Given the description of an element on the screen output the (x, y) to click on. 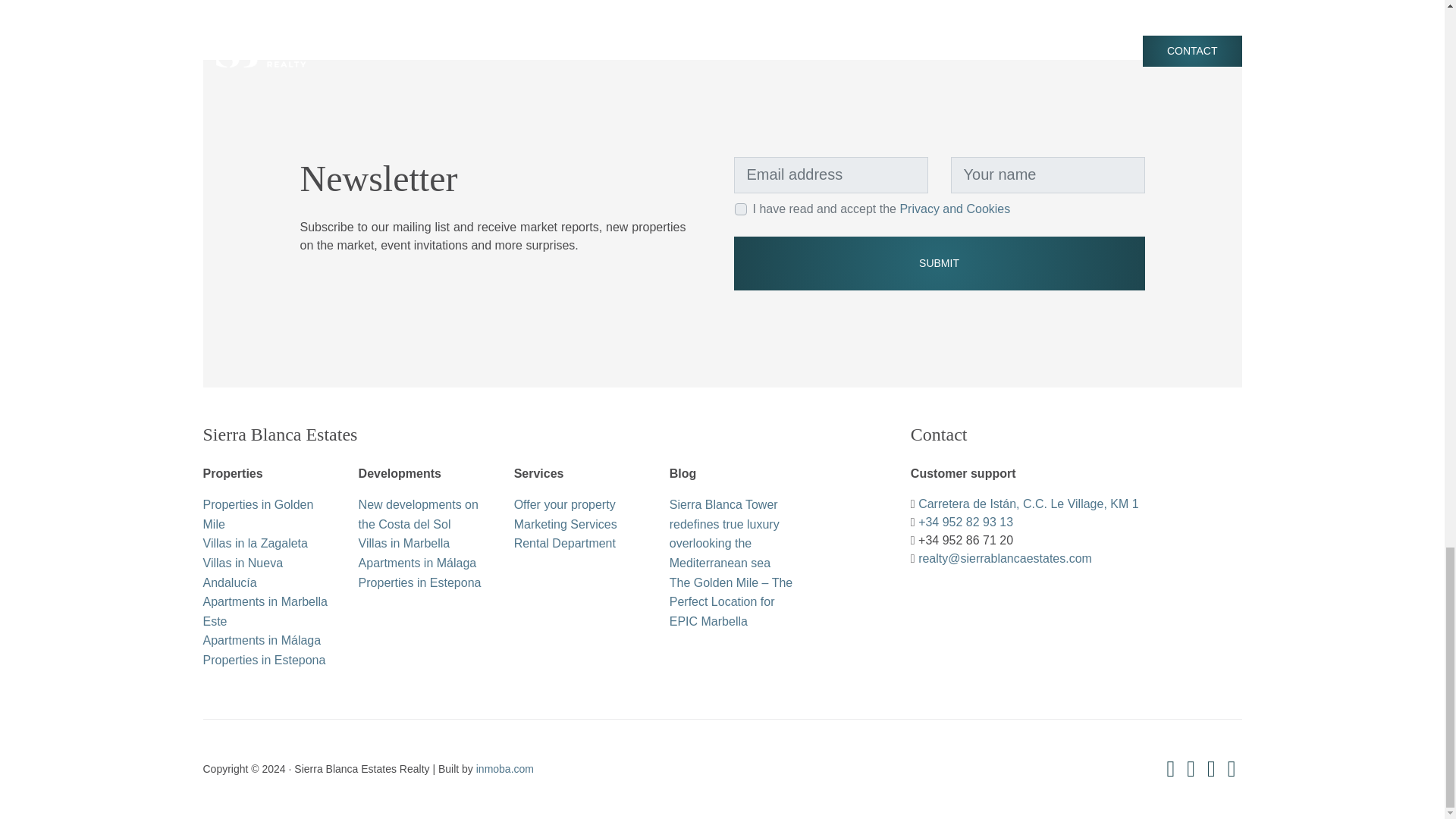
Properties in Golden Mile (258, 513)
SUBMIT (938, 262)
Privacy and Cookies (954, 208)
Rental Department (564, 543)
Villas in la Zagaleta (255, 543)
Sierra Blanca Estates Email (1005, 558)
Marketing Services (565, 523)
New developments on the Costa del Sol (418, 513)
Apartments in Marbella Este (266, 611)
Sierra Blanca Estates Phone (965, 521)
